Given the description of an element on the screen output the (x, y) to click on. 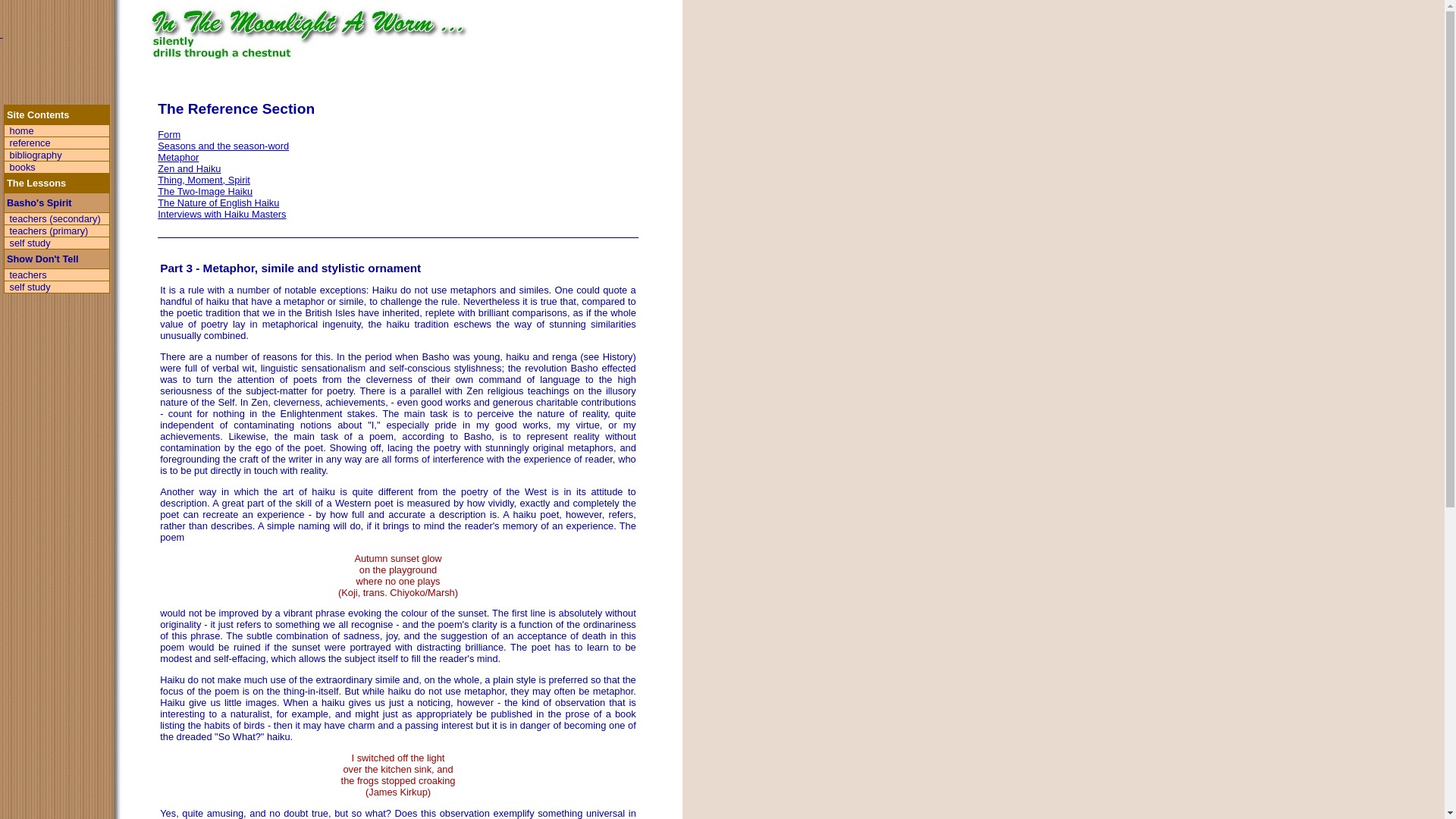
Master Bashos Spirit for Secondary School Teachers (55, 218)
teachers (28, 274)
Show Dont Tell - Self Study (29, 286)
self study (29, 242)
Interviews with Haiku Masters (221, 214)
home (21, 130)
Reference Section (29, 142)
self study (29, 286)
Waning Moon Press and others (22, 166)
Show Dont Tell for Teachers (28, 274)
Zen and Haiku (189, 168)
Master Bashos Spirit for Primary School Teachers (48, 230)
books (22, 166)
Form (168, 134)
The Two-Image Haiku (204, 191)
